Given the description of an element on the screen output the (x, y) to click on. 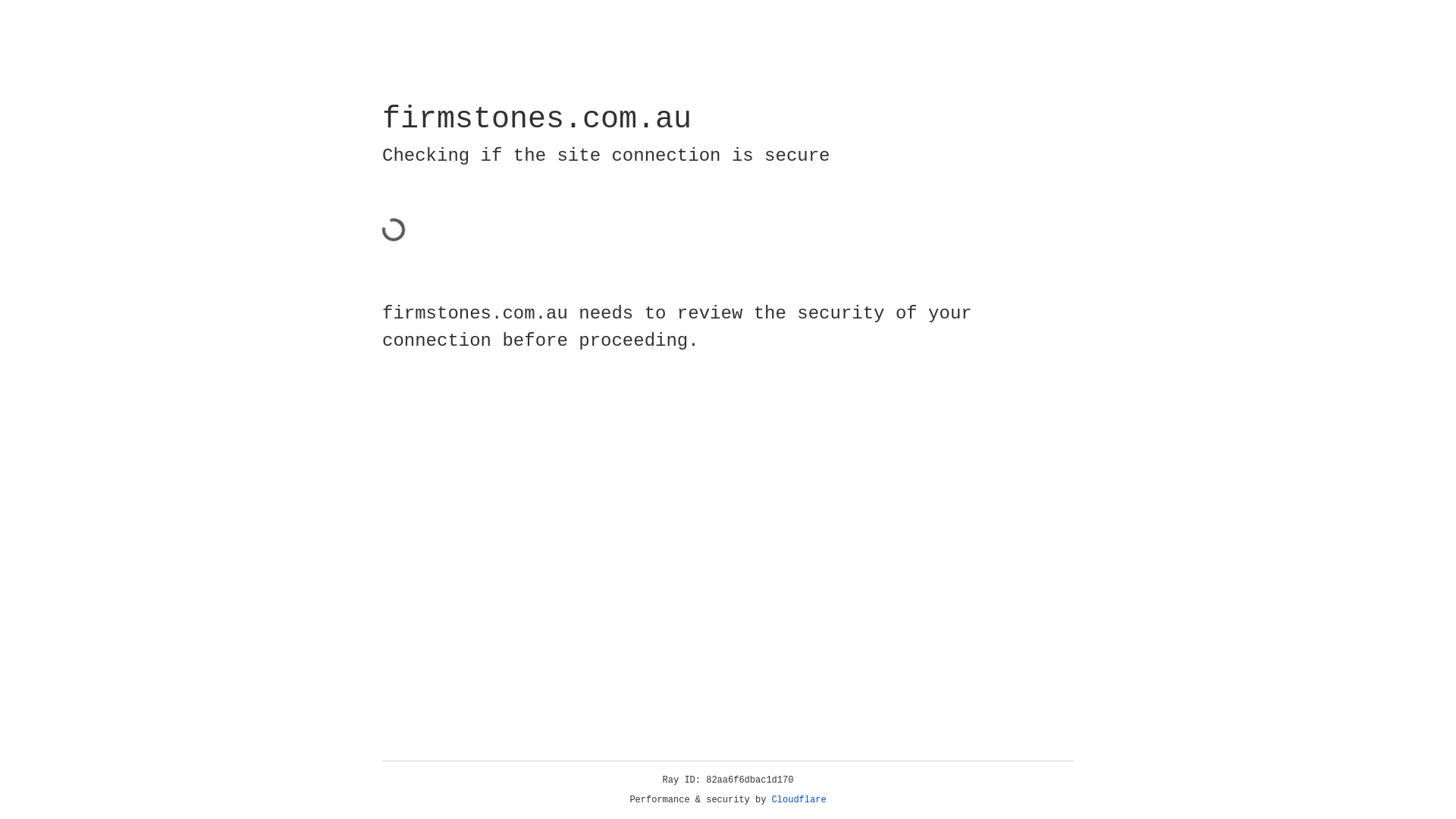
Cloudflare Element type: text (798, 799)
